Given the description of an element on the screen output the (x, y) to click on. 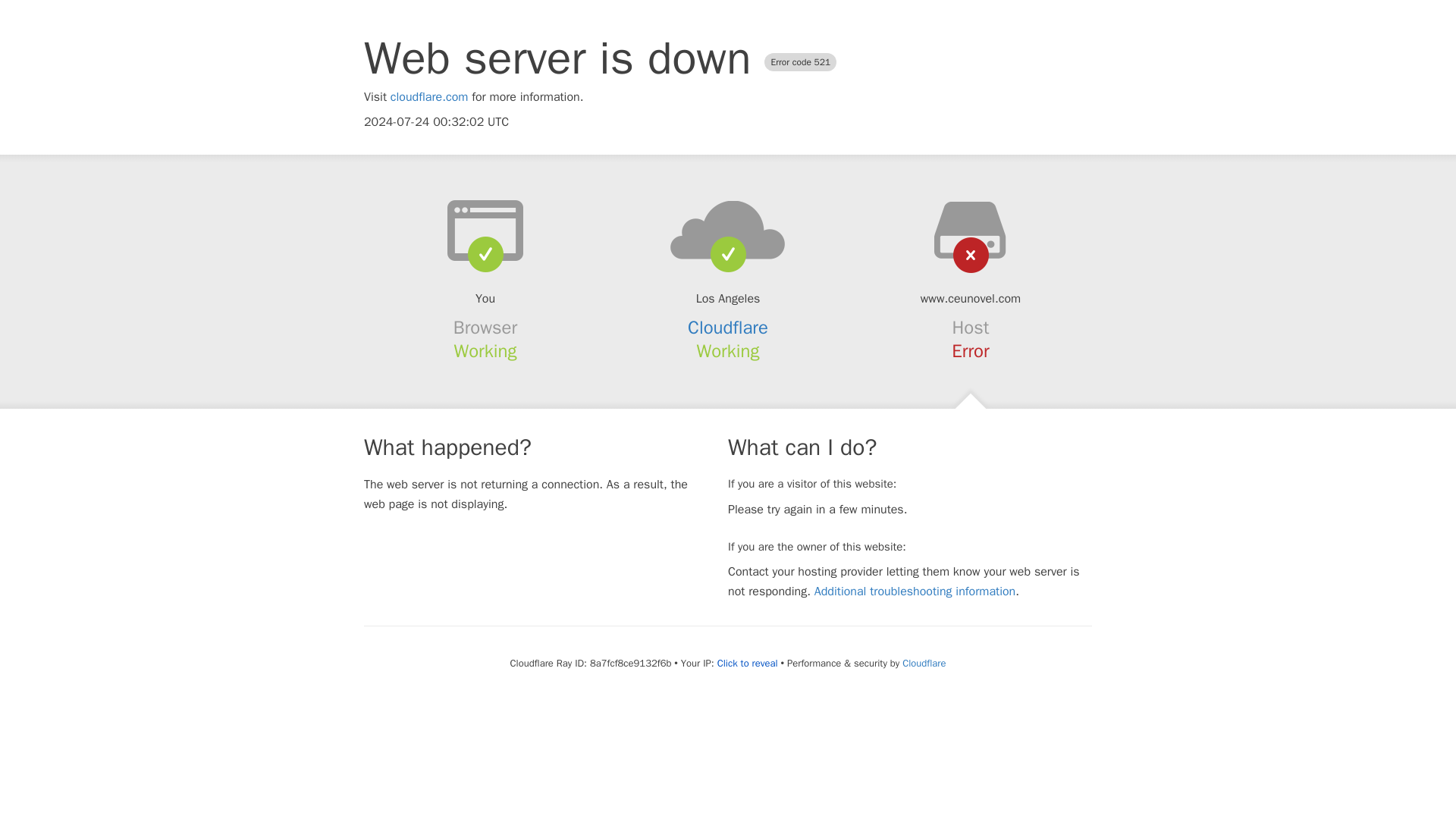
Click to reveal (747, 663)
Cloudflare (727, 327)
Additional troubleshooting information (913, 590)
cloudflare.com (429, 96)
Cloudflare (923, 662)
